Given the description of an element on the screen output the (x, y) to click on. 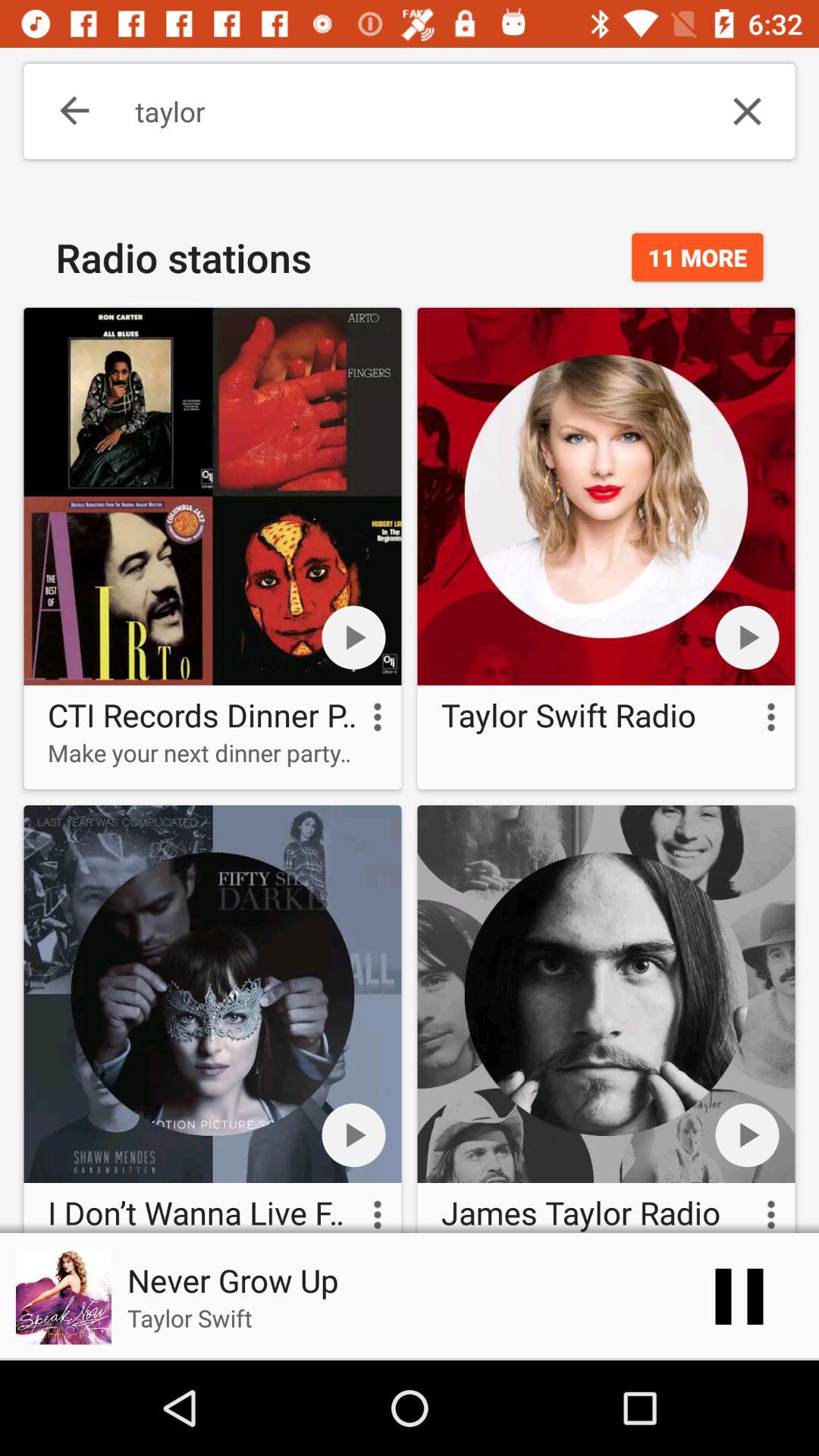
launch icon to the left of taylor icon (63, 111)
